Given the description of an element on the screen output the (x, y) to click on. 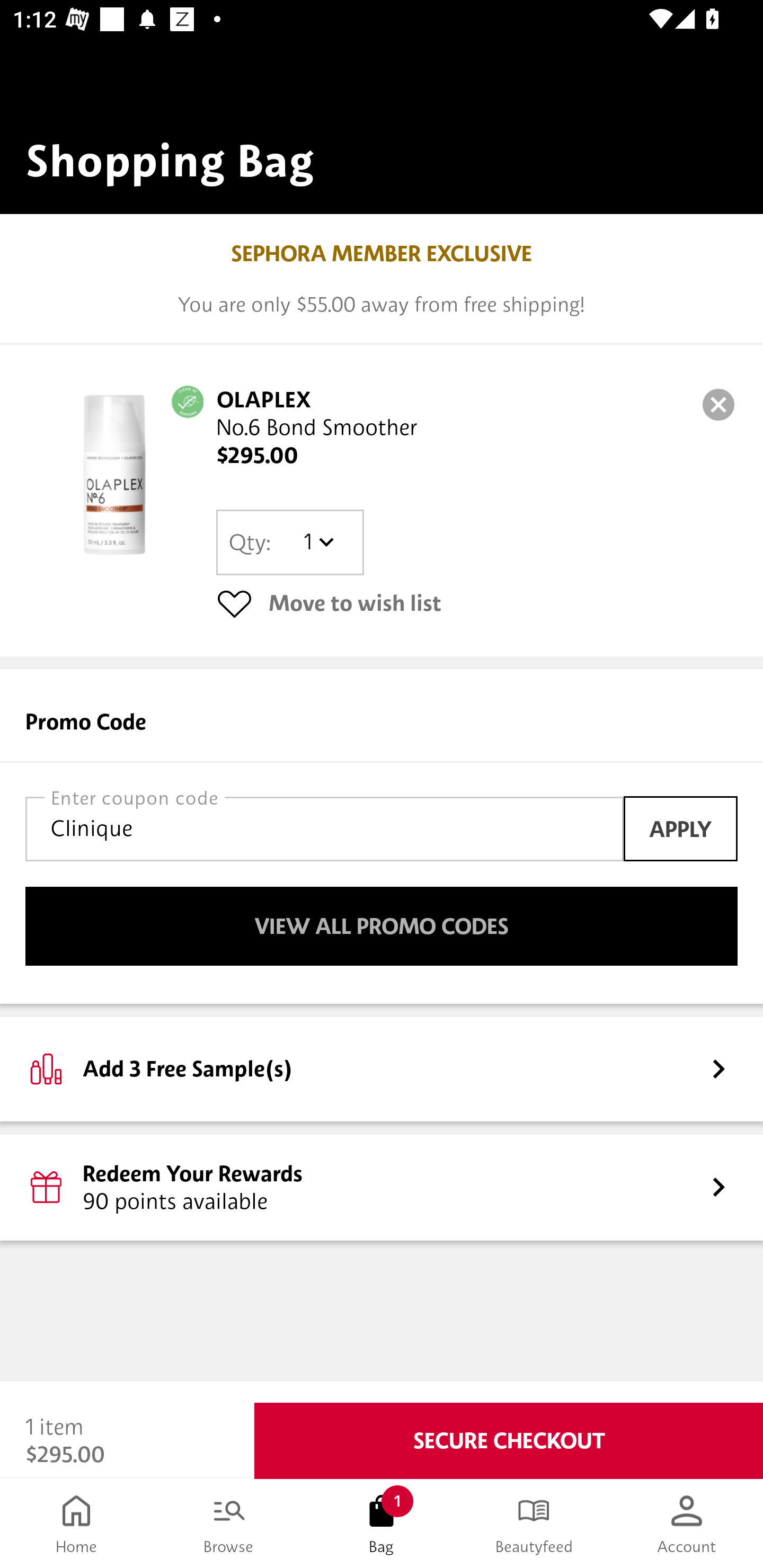
1 (317, 542)
Move to wish list (476, 602)
Promo Code Clinique APPLY VIEW ALL PROMO CODES (381, 836)
APPLY (680, 828)
Clinique (324, 828)
VIEW ALL PROMO CODES (381, 926)
Add 3 Free Sample(s) (381, 1068)
Redeem Your Rewards 90 points available (381, 1186)
SECURE CHECKOUT (508, 1440)
Home (76, 1523)
Browse (228, 1523)
Beautyfeed (533, 1523)
Account (686, 1523)
